Given the description of an element on the screen output the (x, y) to click on. 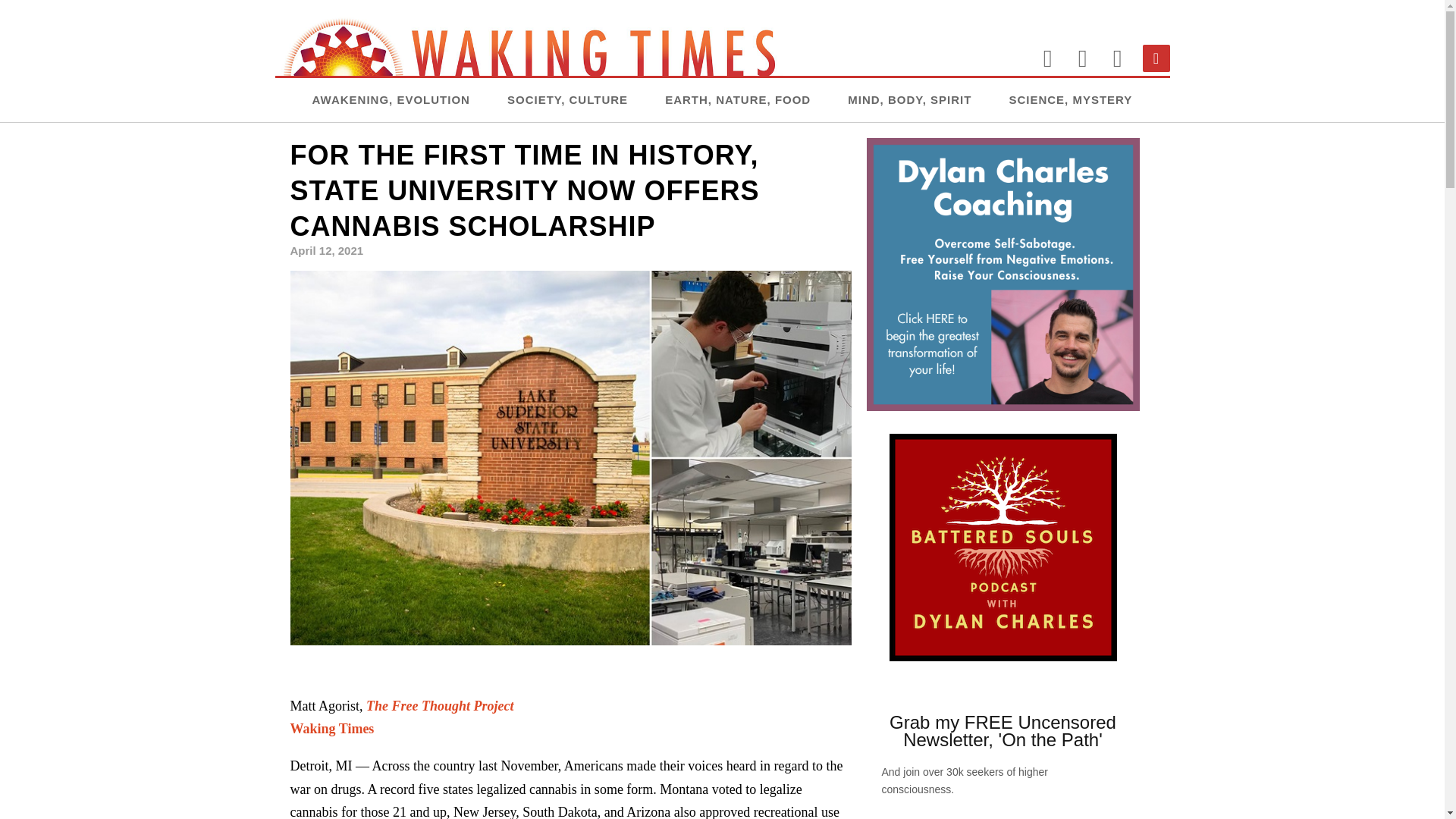
MIND, BODY, SPIRIT (909, 99)
Waking Times (331, 728)
The Free Thought Project (439, 705)
EARTH, NATURE, FOOD (737, 99)
SOCIETY, CULTURE (566, 99)
AWAKENING, EVOLUTION (391, 99)
SCIENCE, MYSTERY (1070, 99)
